Given the description of an element on the screen output the (x, y) to click on. 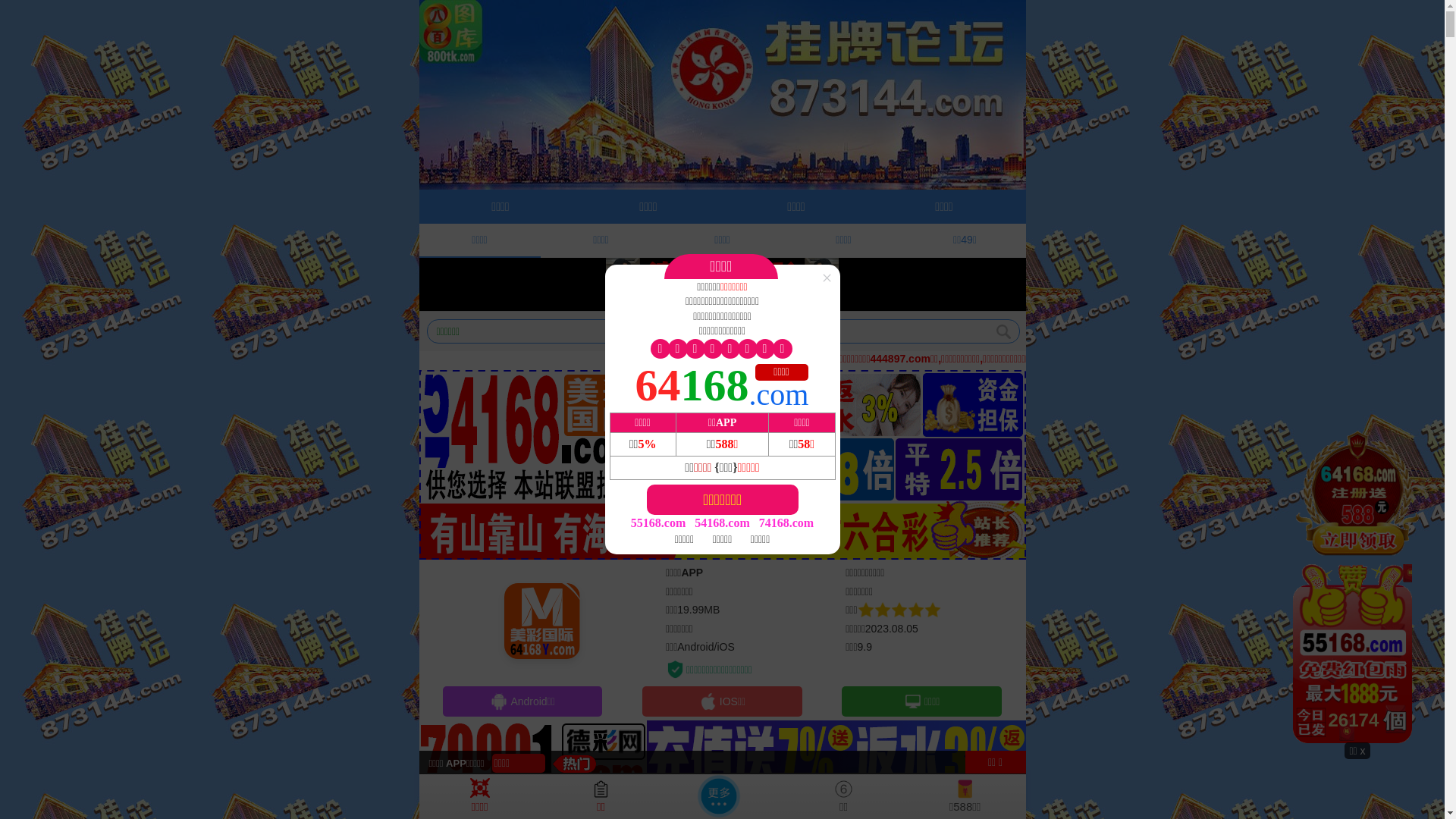
26427 Element type: text (1356, 585)
